Given the description of an element on the screen output the (x, y) to click on. 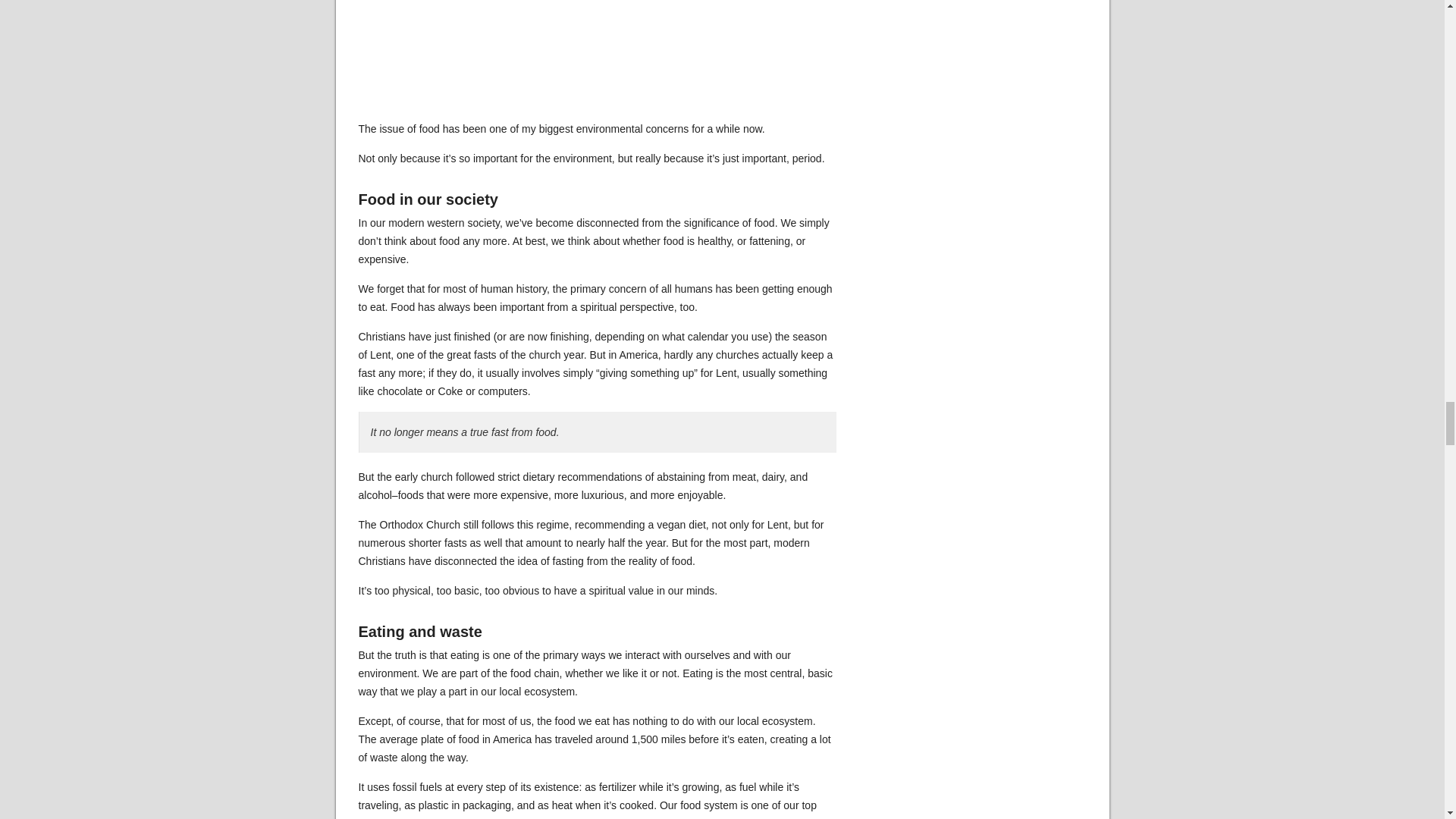
Food waste is the world's dumbest problem (596, 57)
